Given the description of an element on the screen output the (x, y) to click on. 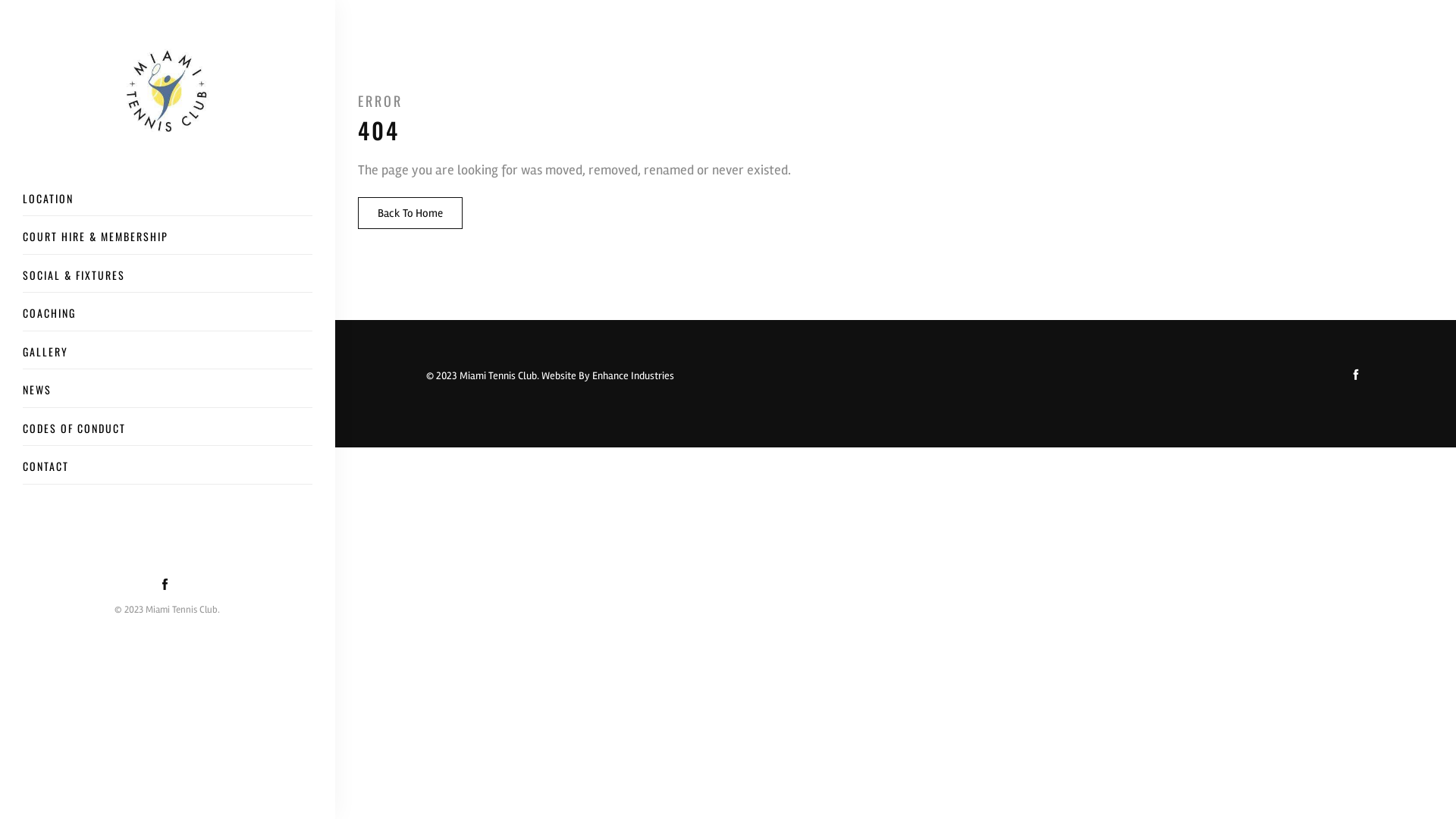
CONTACT Element type: text (167, 470)
Enhance Industries Element type: text (633, 375)
COACHING Element type: text (167, 317)
CODES OF CONDUCT Element type: text (167, 432)
COURT HIRE & MEMBERSHIP Element type: text (167, 240)
Back To Home Element type: text (409, 213)
LOCATION Element type: text (167, 202)
GALLERY Element type: text (167, 356)
NEWS Element type: text (167, 393)
SOCIAL & FIXTURES Element type: text (167, 279)
